Given the description of an element on the screen output the (x, y) to click on. 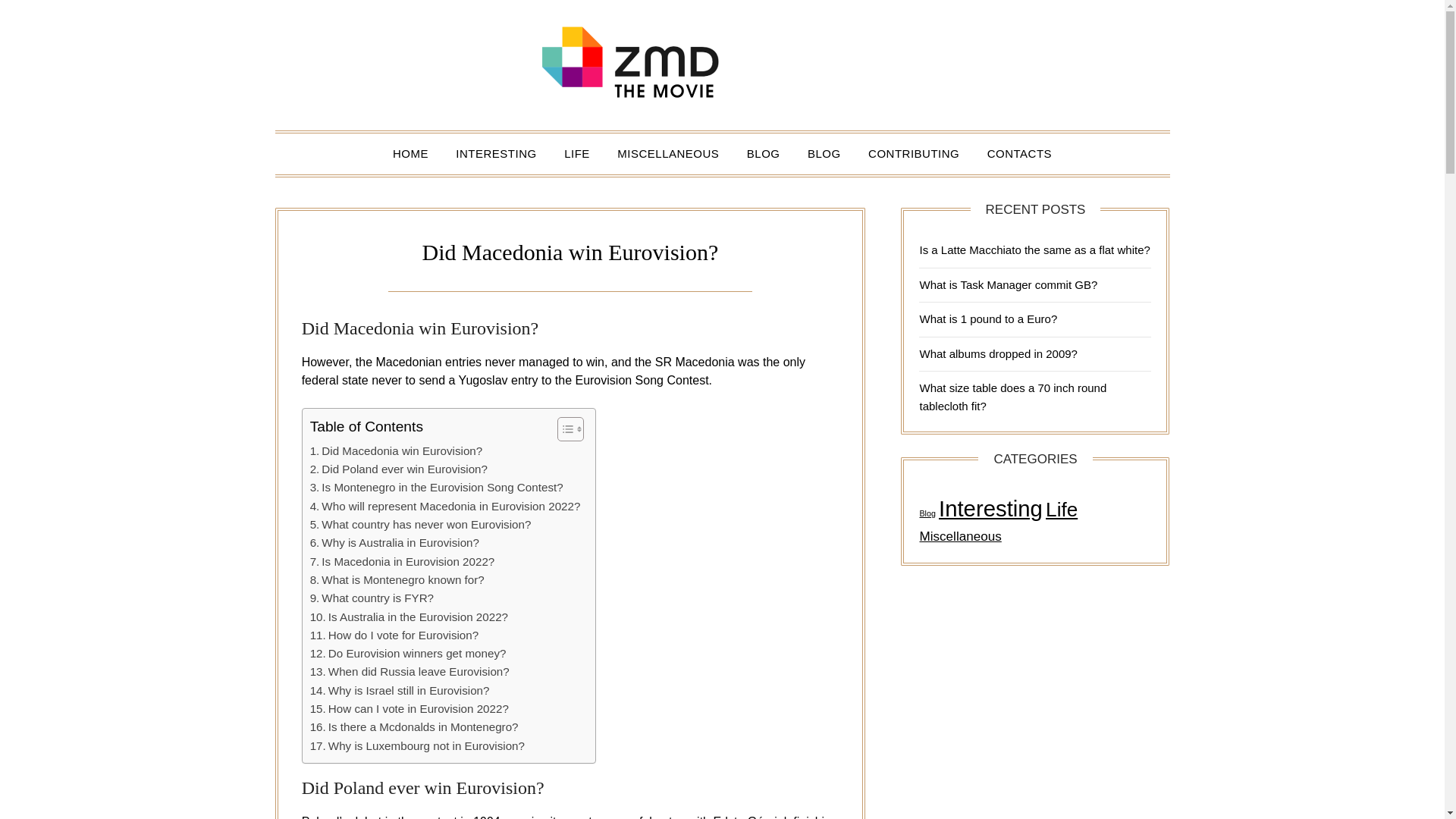
MISCELLANEOUS (667, 153)
What country is FYR? (371, 597)
When did Russia leave Eurovision? (409, 671)
Did Macedonia win Eurovision? (396, 451)
Is Australia in the Eurovision 2022? (409, 617)
Do Eurovision winners get money? (408, 653)
Is there a Mcdonalds in Montenegro? (414, 727)
Why is Luxembourg not in Eurovision? (417, 746)
What is Montenegro known for? (397, 579)
Is there a Mcdonalds in Montenegro? (414, 727)
Do Eurovision winners get money? (408, 653)
Why is Australia in Eurovision? (394, 542)
How do I vote for Eurovision? (394, 635)
Is Montenegro in the Eurovision Song Contest? (436, 487)
How can I vote in Eurovision 2022? (409, 709)
